Given the description of an element on the screen output the (x, y) to click on. 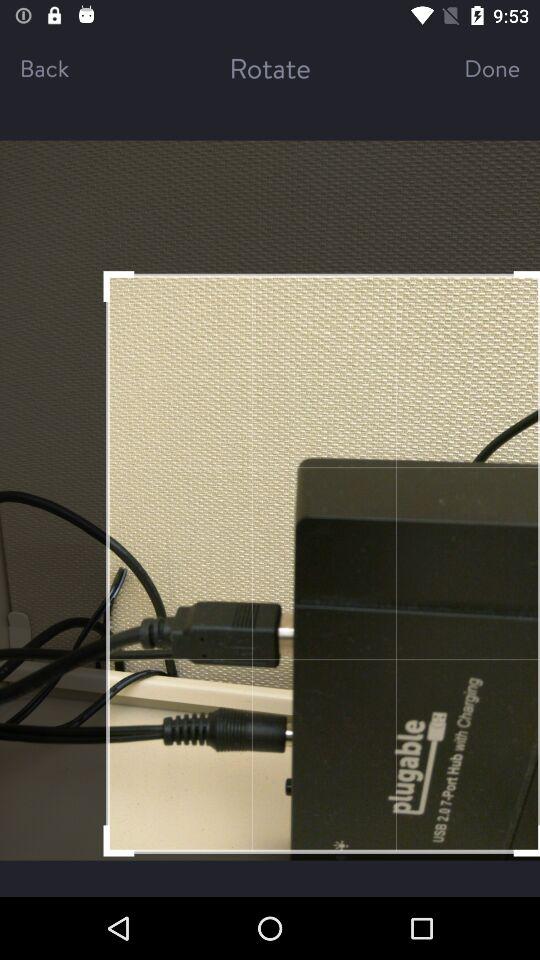
launch item next to back (269, 67)
